Given the description of an element on the screen output the (x, y) to click on. 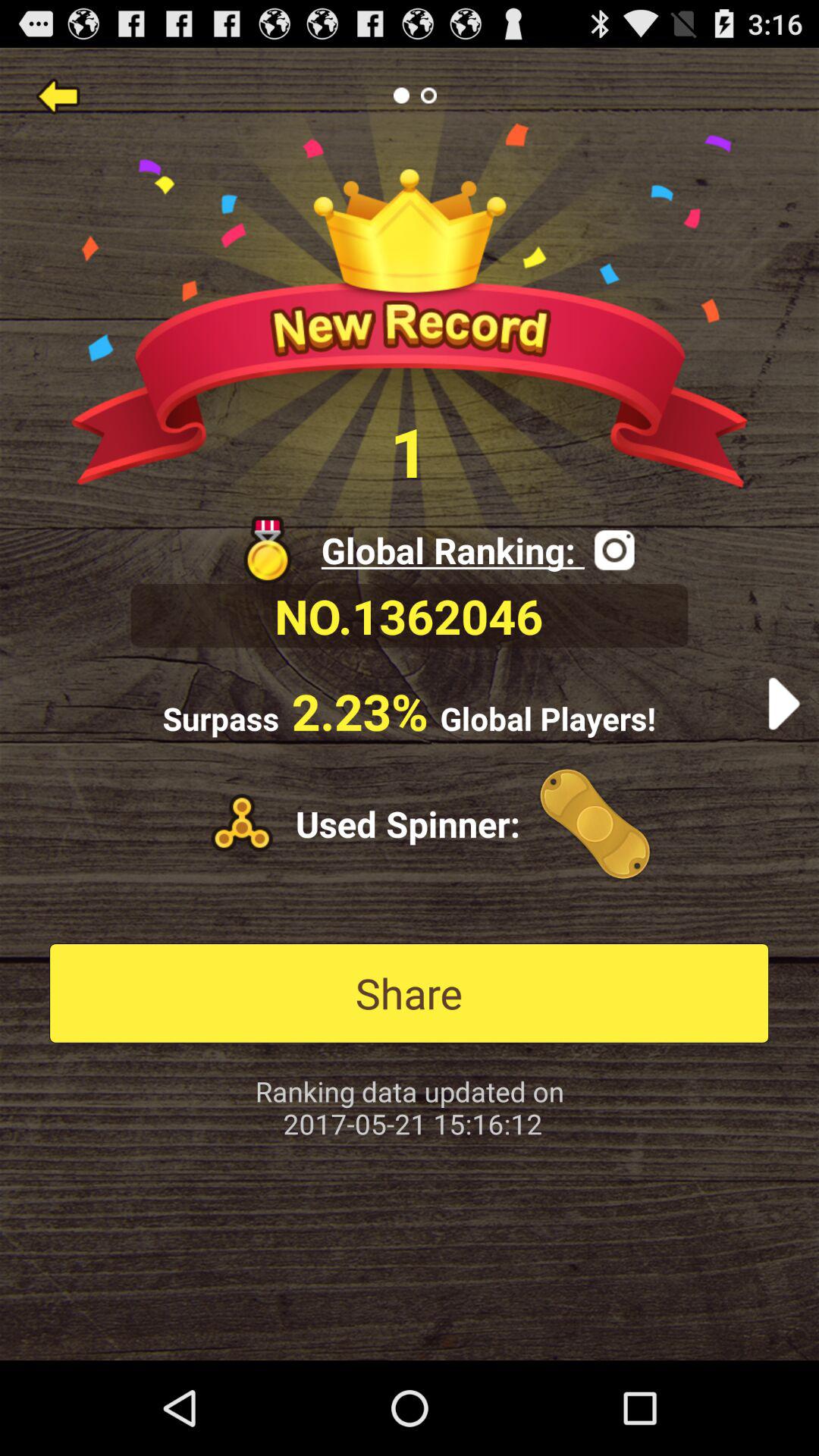
go to next (784, 703)
